Given the description of an element on the screen output the (x, y) to click on. 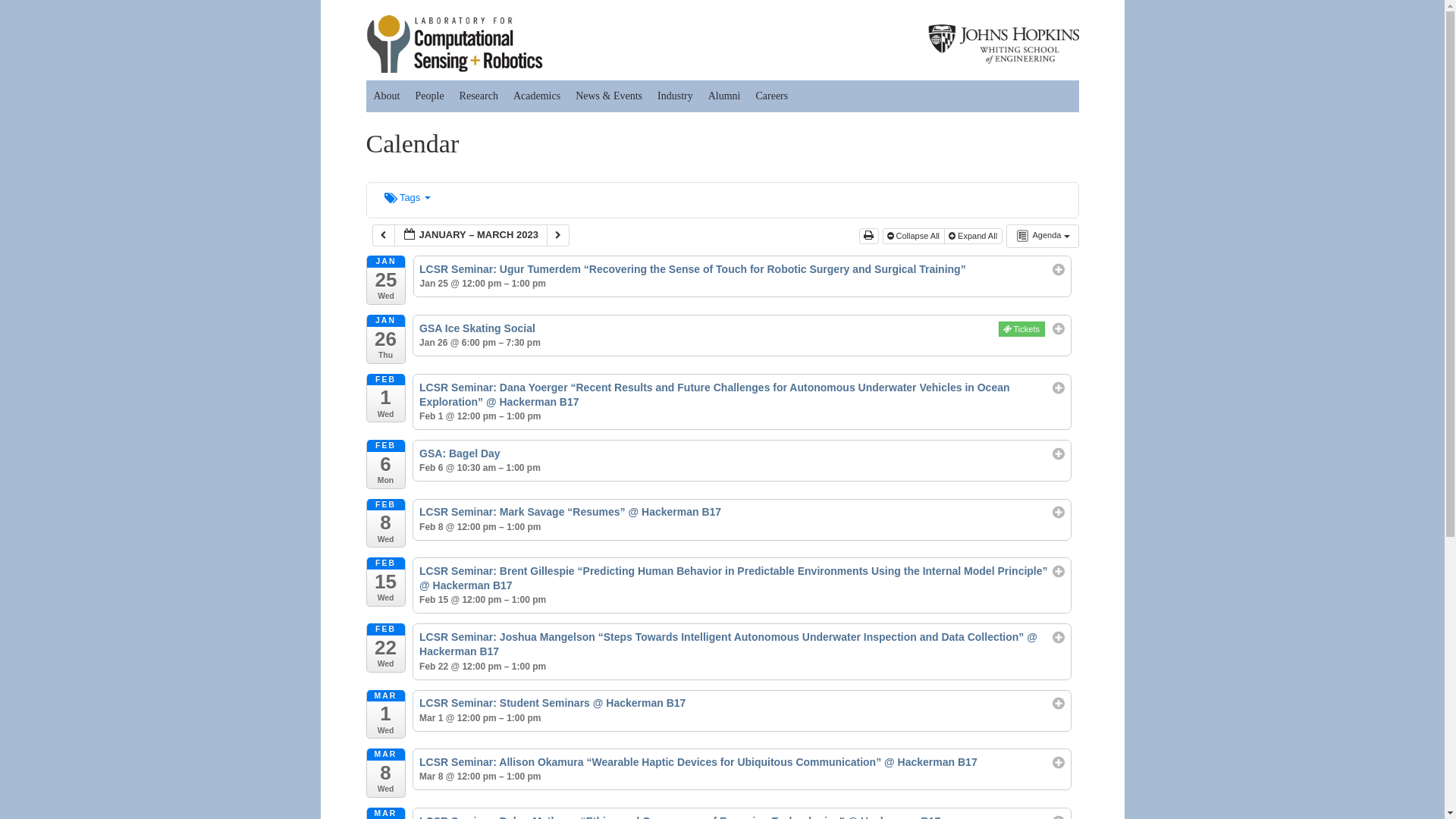
Alumni (724, 96)
Research (478, 96)
Industry (674, 96)
Careers (771, 96)
About (386, 96)
Tags (407, 197)
People (429, 96)
Choose a date using calendar (470, 235)
Academics (536, 96)
